Given the description of an element on the screen output the (x, y) to click on. 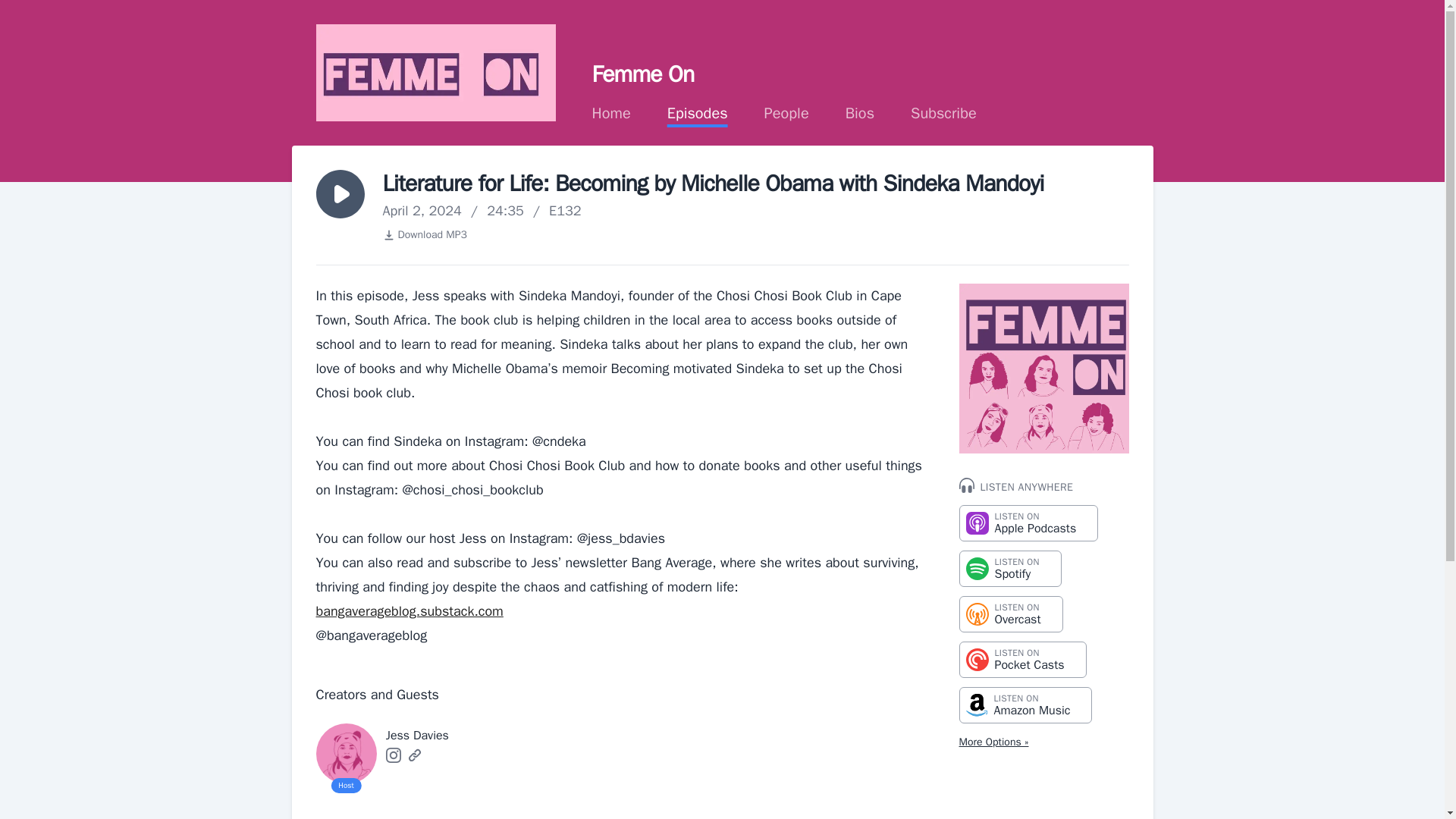
Home (611, 113)
Subscribe (943, 113)
Website (1025, 705)
People (1022, 659)
Home (414, 754)
Download Episode (786, 113)
People (1027, 523)
Bios (611, 113)
Episodes (423, 234)
Episodes (786, 113)
Listen to Femme On on Apple Podcasts (860, 113)
Play Episode (697, 113)
